Given the description of an element on the screen output the (x, y) to click on. 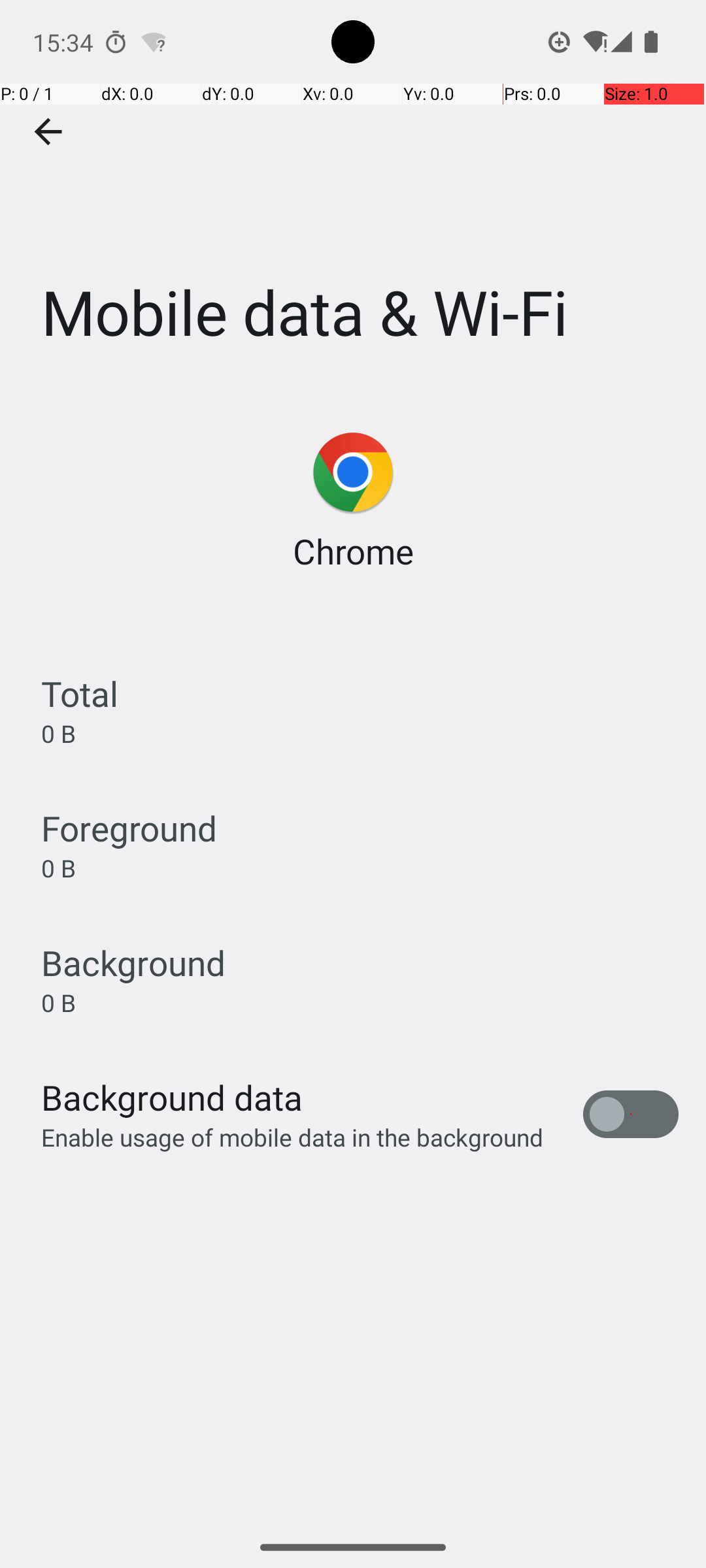
Foreground Element type: android.widget.TextView (129, 827)
Background Element type: android.widget.TextView (133, 962)
Background data Element type: android.widget.TextView (171, 1097)
Enable usage of mobile data in the background Element type: android.widget.TextView (292, 1136)
